Given the description of an element on the screen output the (x, y) to click on. 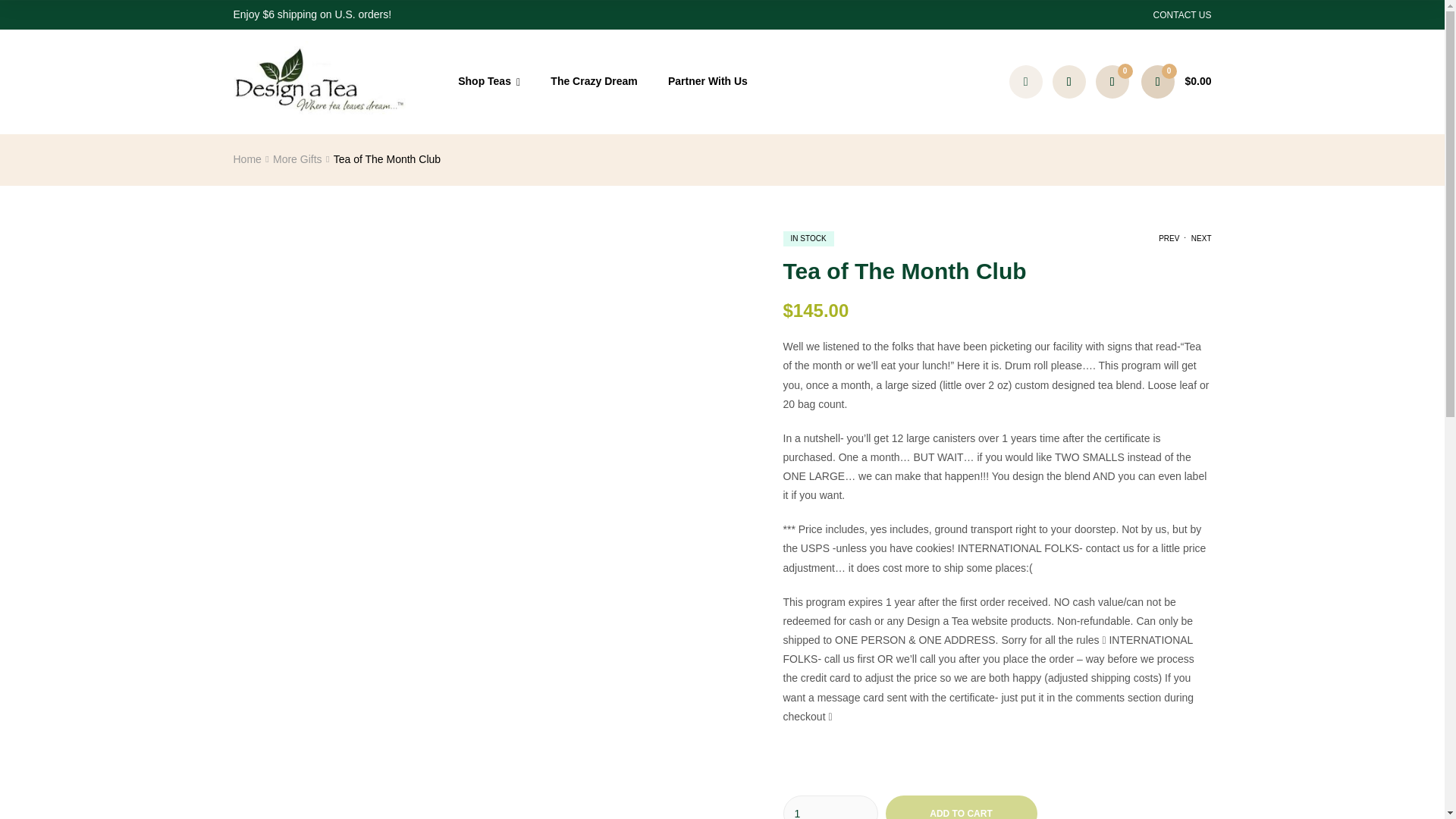
Home (247, 158)
Shop Teas (489, 81)
CONTACT US (1182, 14)
1 (830, 807)
The Crazy Dream (593, 81)
View your shopping cart (1176, 81)
0 (1112, 81)
More Gifts (297, 158)
Partner With Us (707, 81)
